Given the description of an element on the screen output the (x, y) to click on. 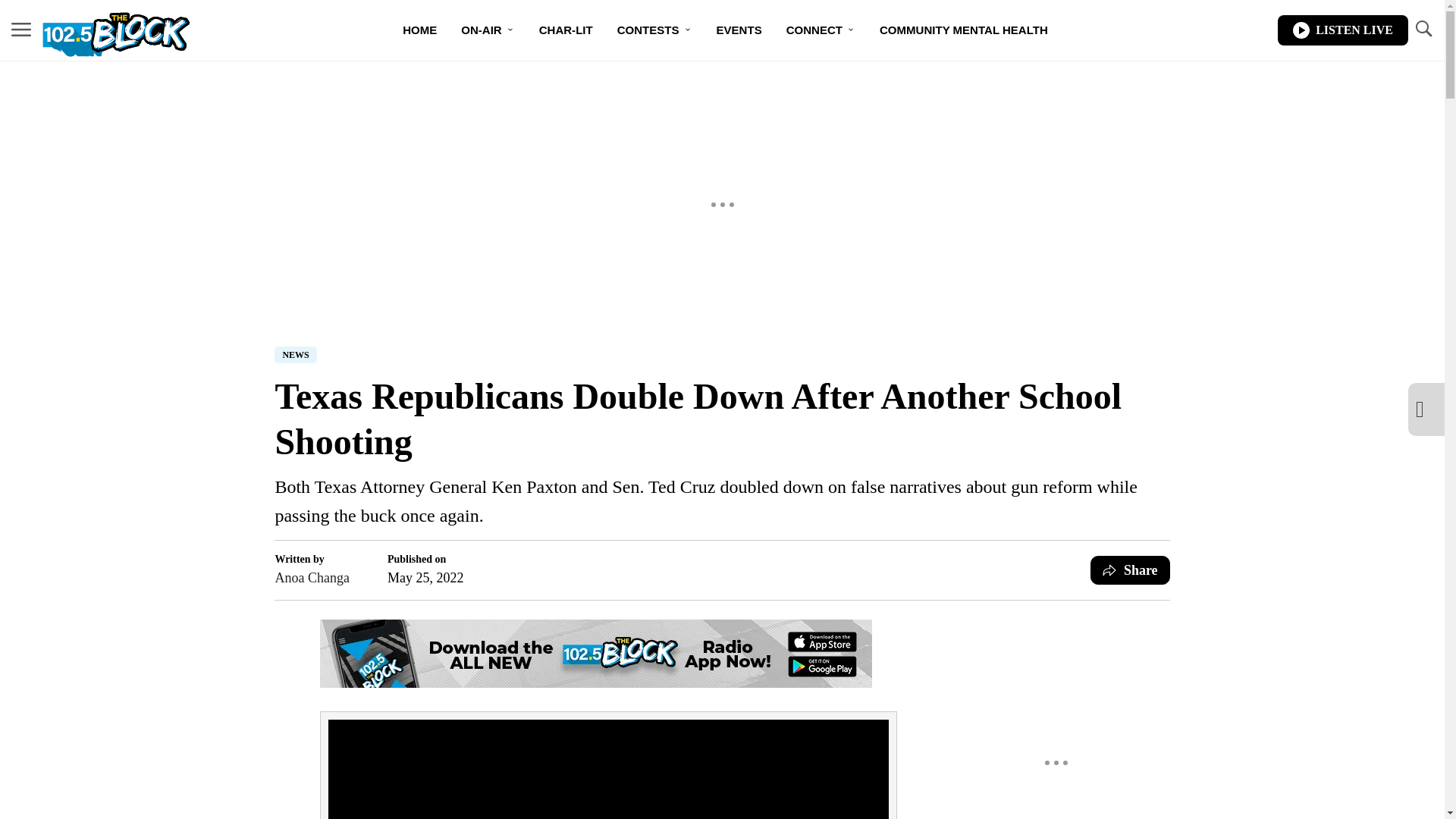
HOME (419, 30)
EVENTS (739, 30)
ON-AIR (486, 30)
CONTESTS (654, 30)
TOGGLE SEARCH (1422, 30)
CONNECT (820, 30)
COMMUNITY MENTAL HEALTH (963, 30)
MENU (20, 30)
MENU (20, 29)
Share (1130, 570)
